Given the description of an element on the screen output the (x, y) to click on. 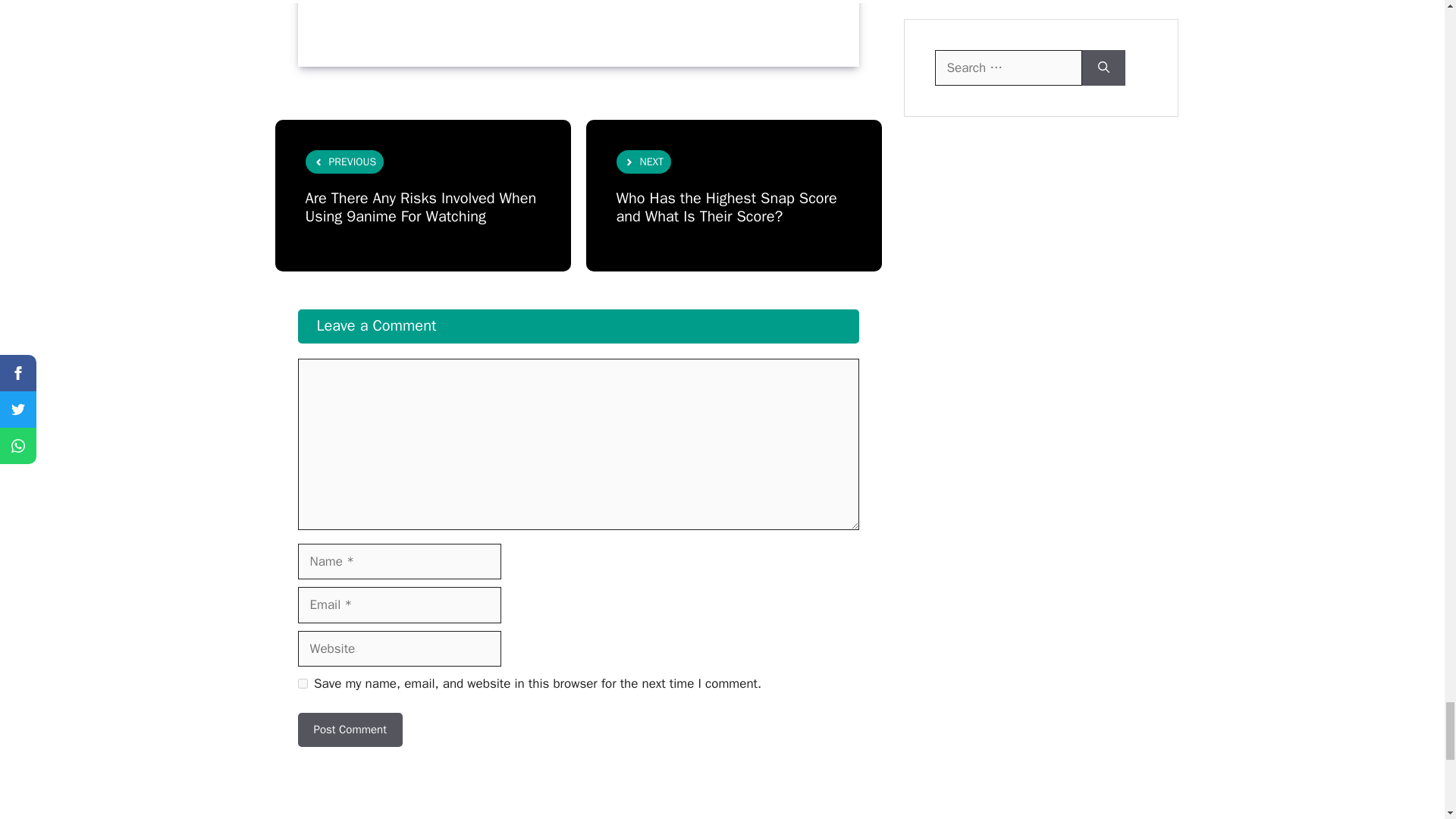
Post Comment (349, 729)
Are There Any Risks Involved When Using 9anime For Watching (419, 207)
Post Comment (349, 729)
Who Has the Highest Snap Score and What Is Their Score? (725, 207)
yes (302, 683)
